Given the description of an element on the screen output the (x, y) to click on. 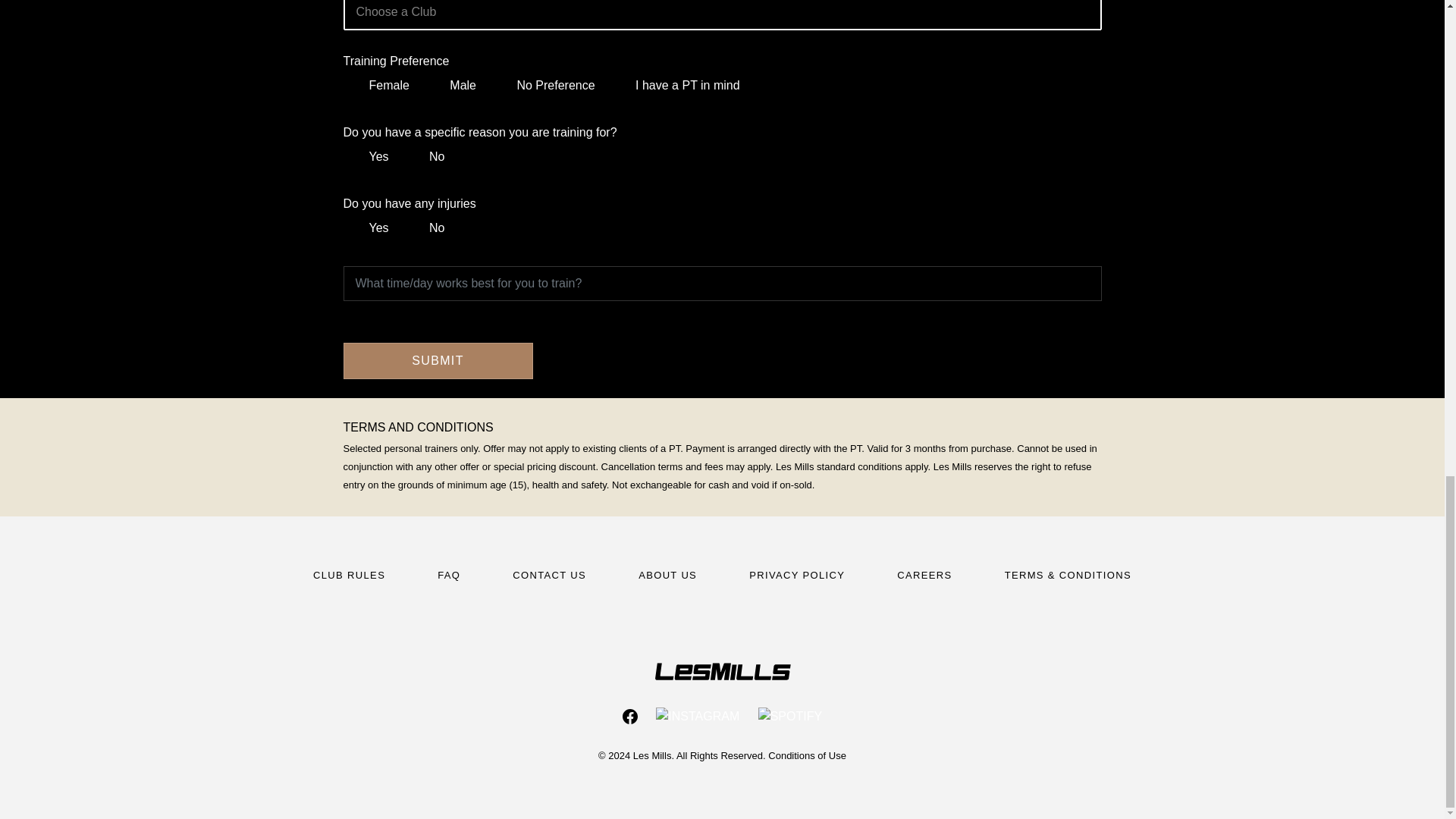
Submit (437, 361)
Conditions of Use (806, 755)
FAQ (449, 575)
PRIVACY POLICY (796, 575)
ABOUT US (668, 575)
Contact Us (549, 575)
CLUB RULES (349, 575)
CONTACT US (549, 575)
Club Rules (349, 575)
Submit (437, 361)
FAQ (449, 575)
CAREERS (924, 575)
About Us (668, 575)
